Given the description of an element on the screen output the (x, y) to click on. 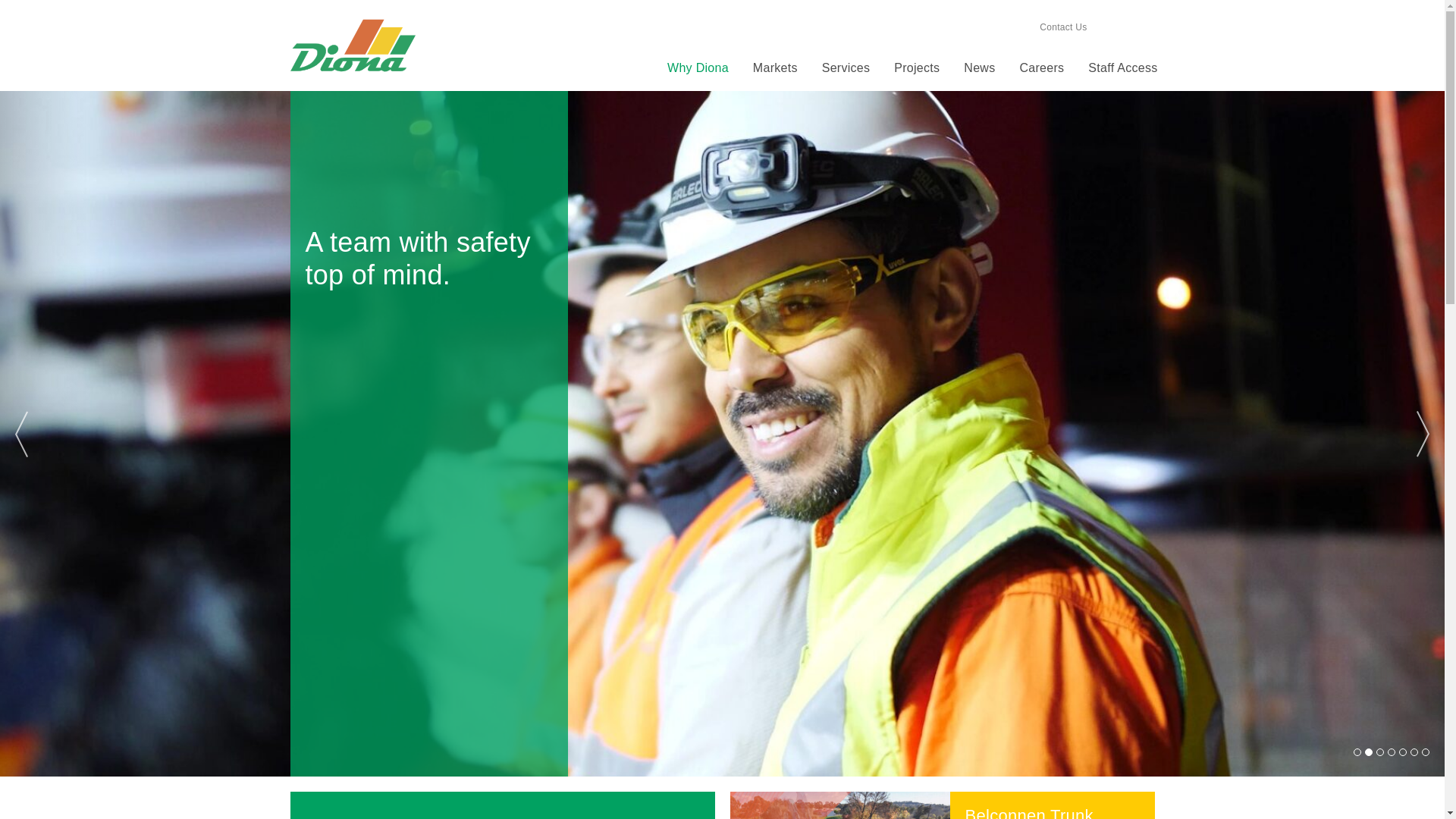
Services Element type: text (845, 68)
Why Diona Element type: text (697, 68)
Markets Element type: text (774, 68)
Diona Element type: hover (351, 45)
Projects Element type: text (916, 68)
Careers Element type: text (1041, 68)
News Element type: text (979, 68)
Staff Access Element type: text (1122, 68)
Contact Us Element type: text (1063, 27)
